Given the description of an element on the screen output the (x, y) to click on. 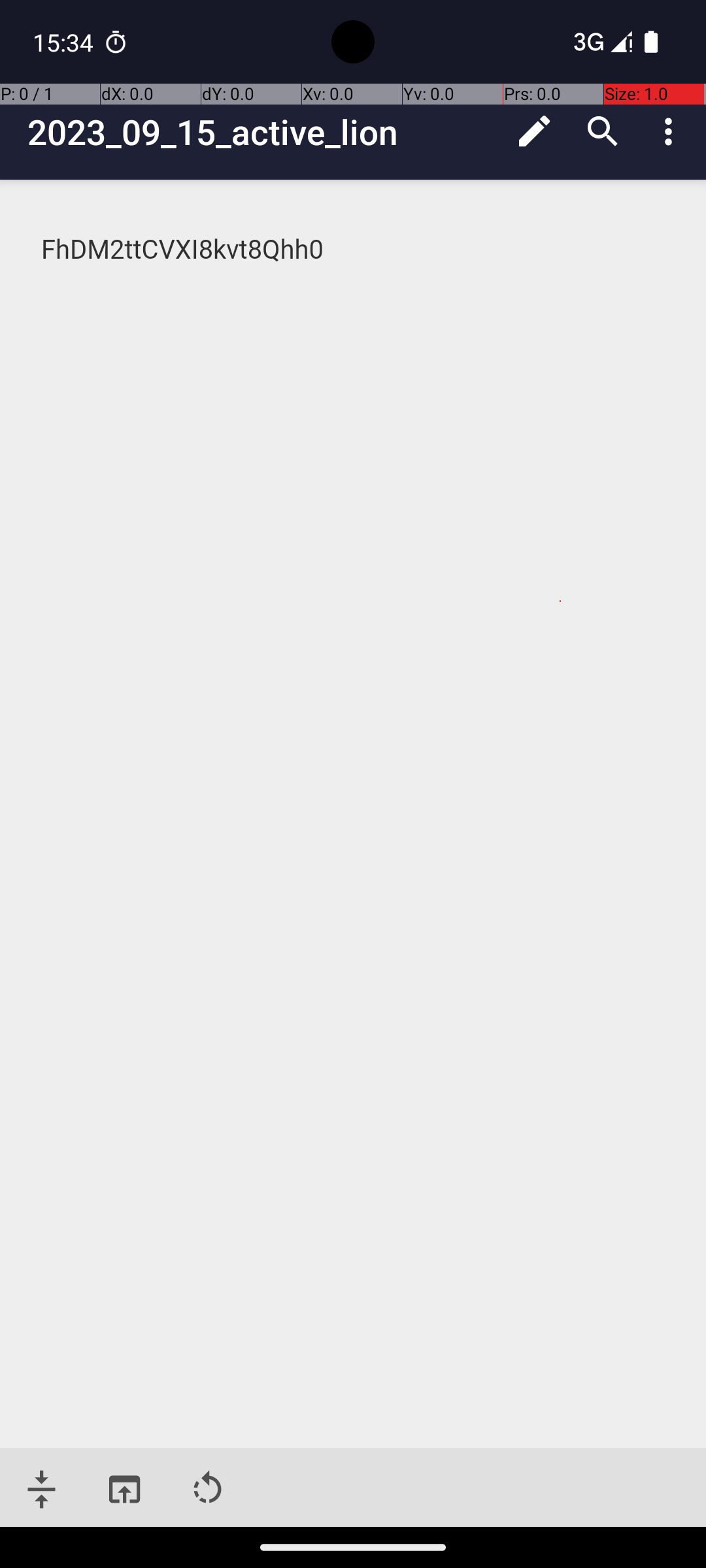
2023_09_15_active_lion Element type: android.widget.TextView (263, 131)
FhDM2ttCVXI8kvt8Qhh0
 Element type: android.widget.TextView (354, 249)
